Given the description of an element on the screen output the (x, y) to click on. 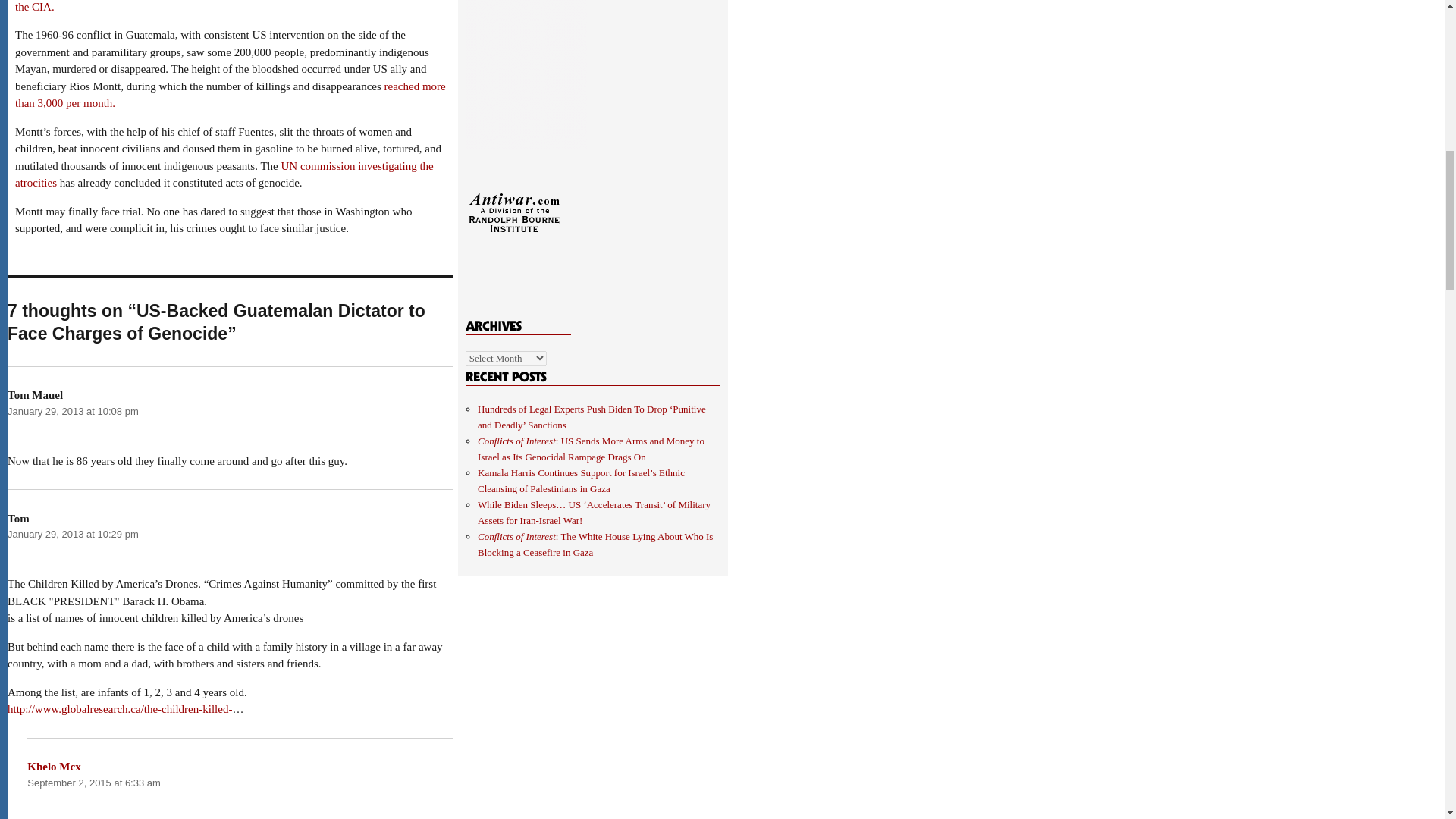
overthrown in a coup orchestrated by the CIA. (231, 6)
reached more than 3,000 per month. (229, 94)
UN commission investigating the atrocities (223, 174)
